Given the description of an element on the screen output the (x, y) to click on. 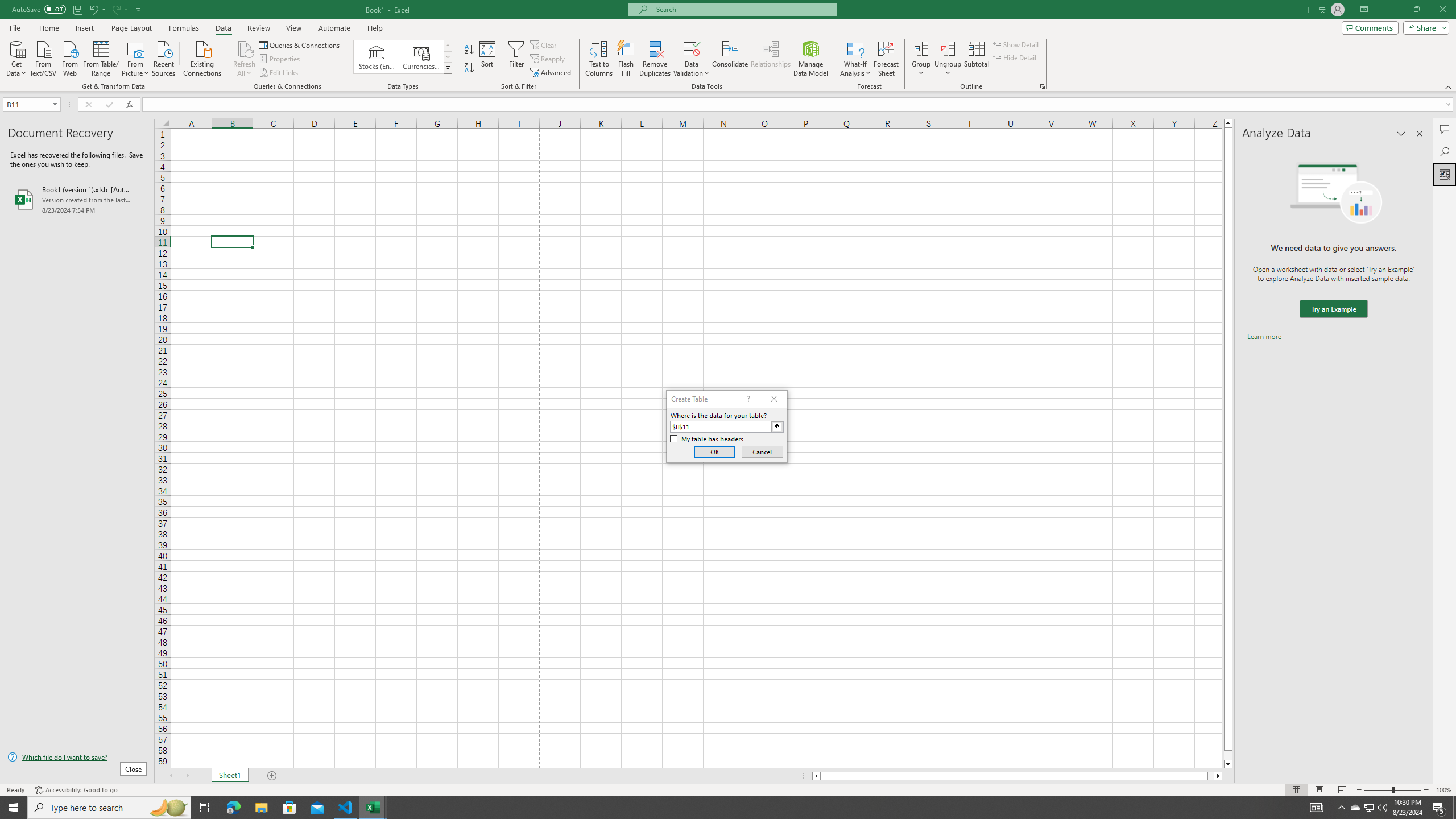
Subtotal (976, 58)
Class: MsoCommandBar (728, 45)
Hide Detail (1014, 56)
Queries & Connections (300, 44)
Sort... (487, 58)
From Web (69, 57)
Consolidate... (729, 58)
